Given the description of an element on the screen output the (x, y) to click on. 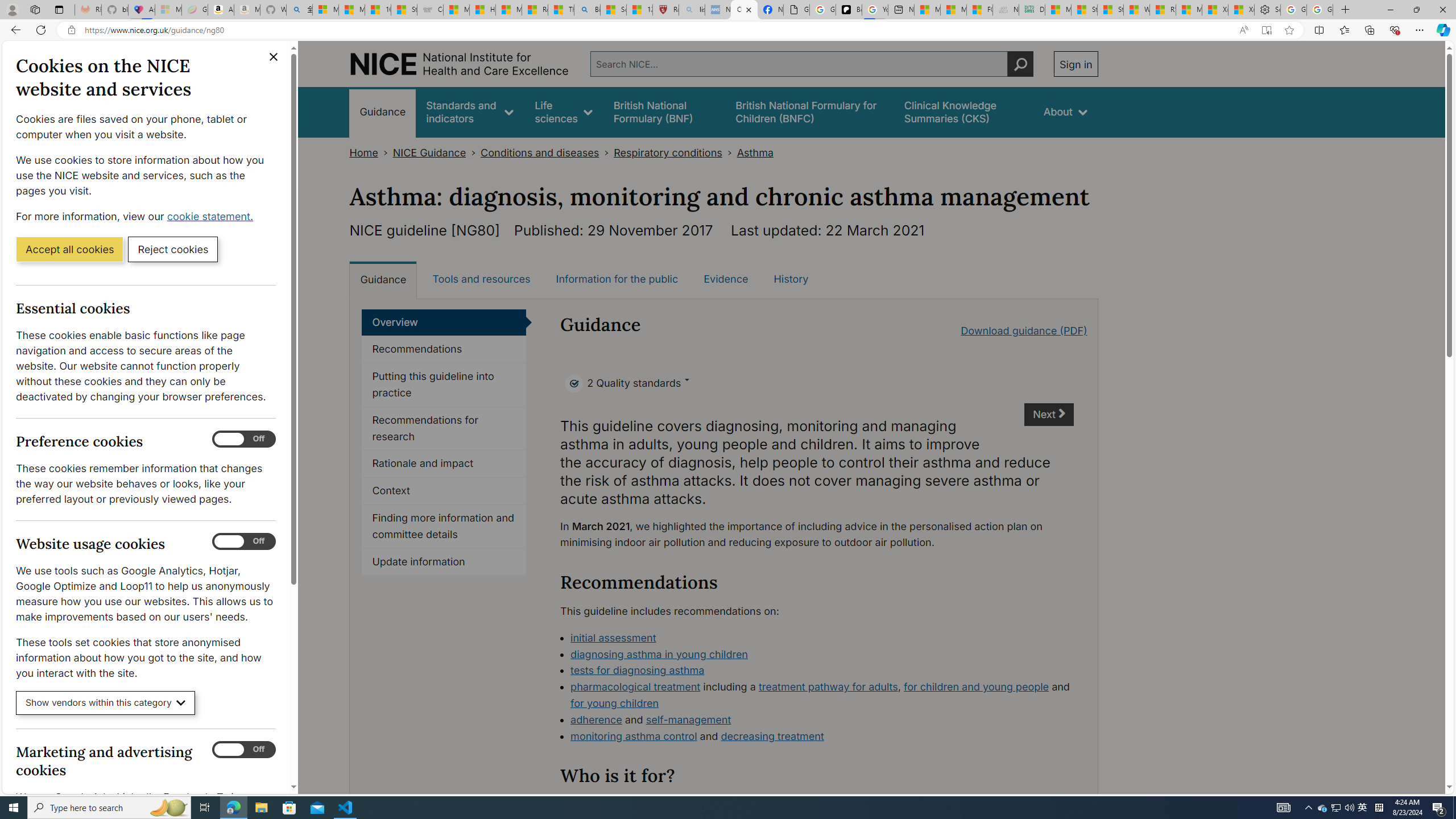
History (790, 279)
Combat Siege (430, 9)
Bing (587, 9)
British National Formulary for Children (BNFC) (809, 111)
Asthma (755, 152)
Download guidance (PDF) (1023, 330)
adherence and self-management (822, 719)
Putting this guideline into practice (444, 385)
treatment pathway for adults (828, 686)
initial assessment (613, 637)
